Given the description of an element on the screen output the (x, y) to click on. 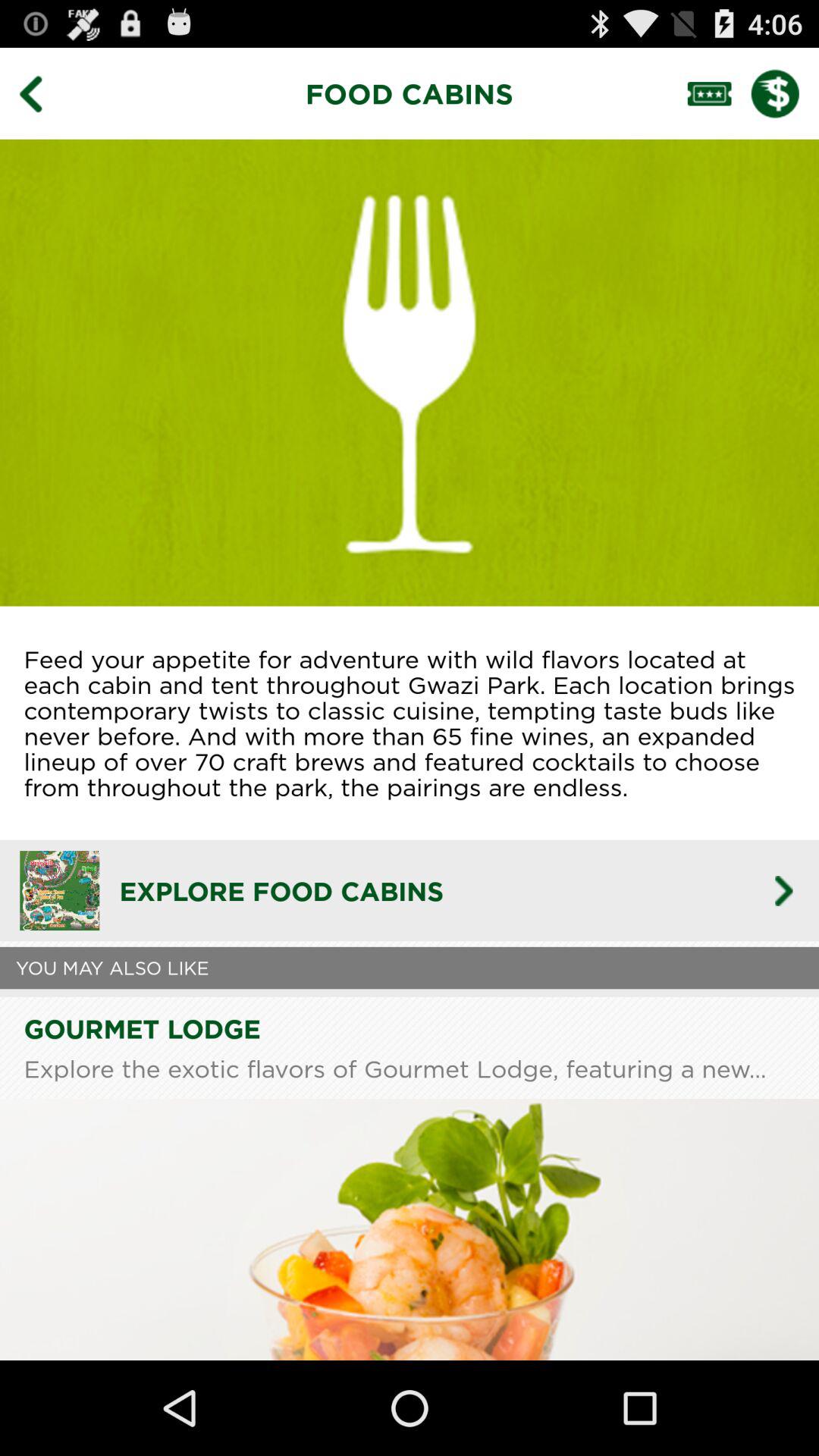
turn on icon next to food cabins (41, 93)
